Given the description of an element on the screen output the (x, y) to click on. 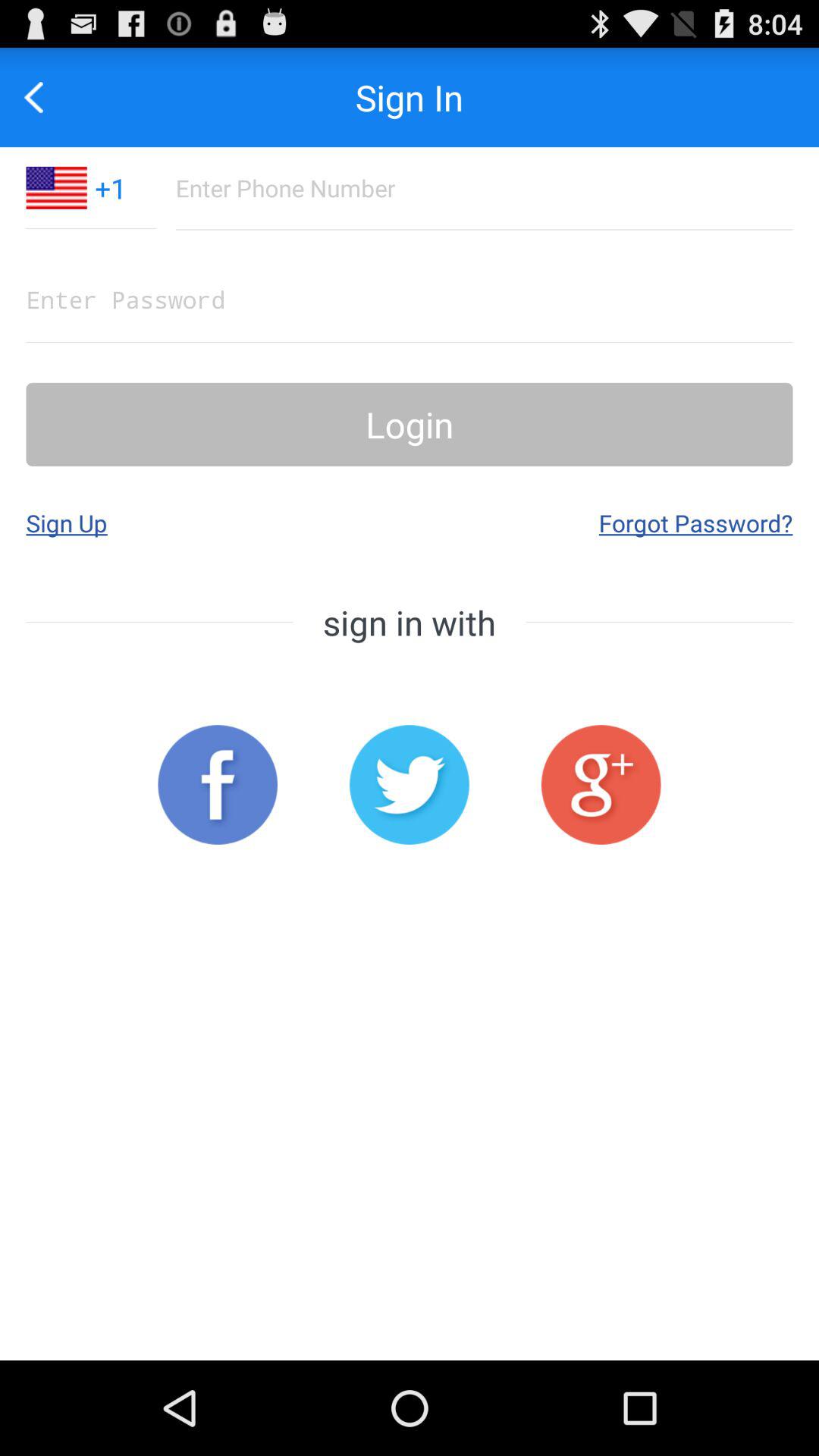
select twitter (409, 784)
